Given the description of an element on the screen output the (x, y) to click on. 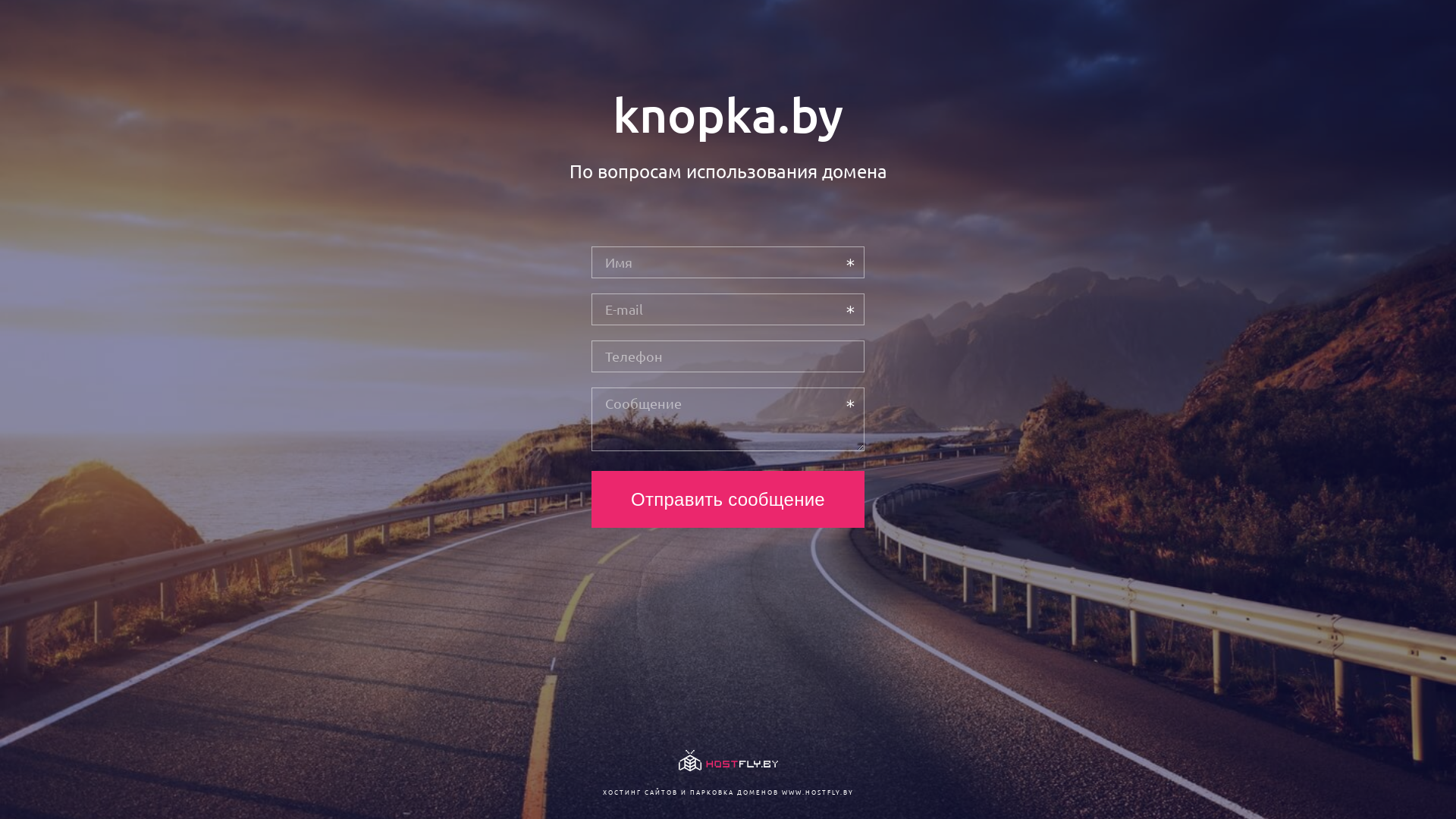
WWW.HOSTFLY.BY Element type: text (817, 791)
